Given the description of an element on the screen output the (x, y) to click on. 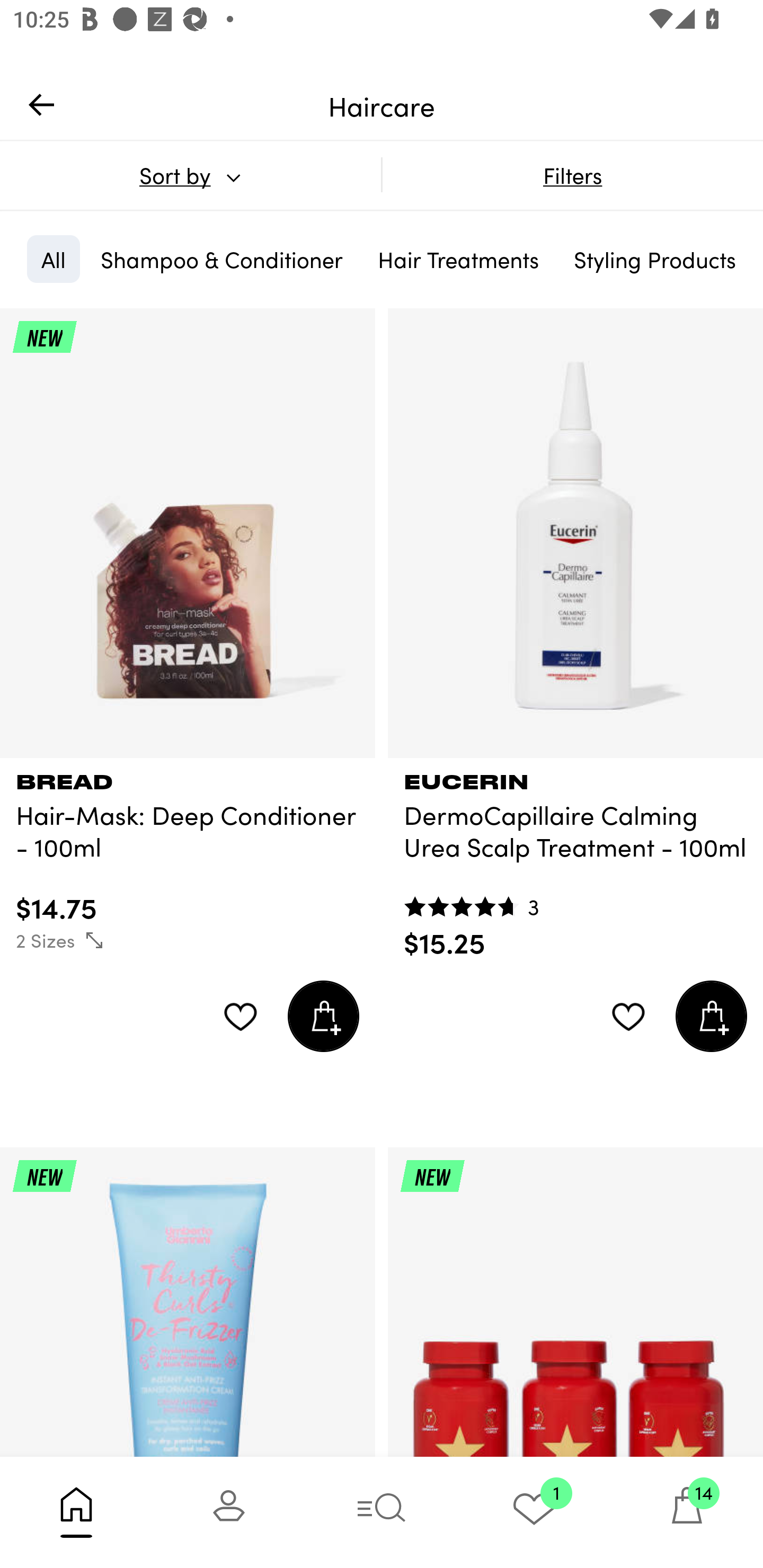
Sort by (190, 174)
Filters (572, 174)
All (53, 258)
Shampoo & Conditioner (221, 258)
Hair Treatments (458, 258)
Styling Products (654, 258)
1 (533, 1512)
14 (686, 1512)
